Given the description of an element on the screen output the (x, y) to click on. 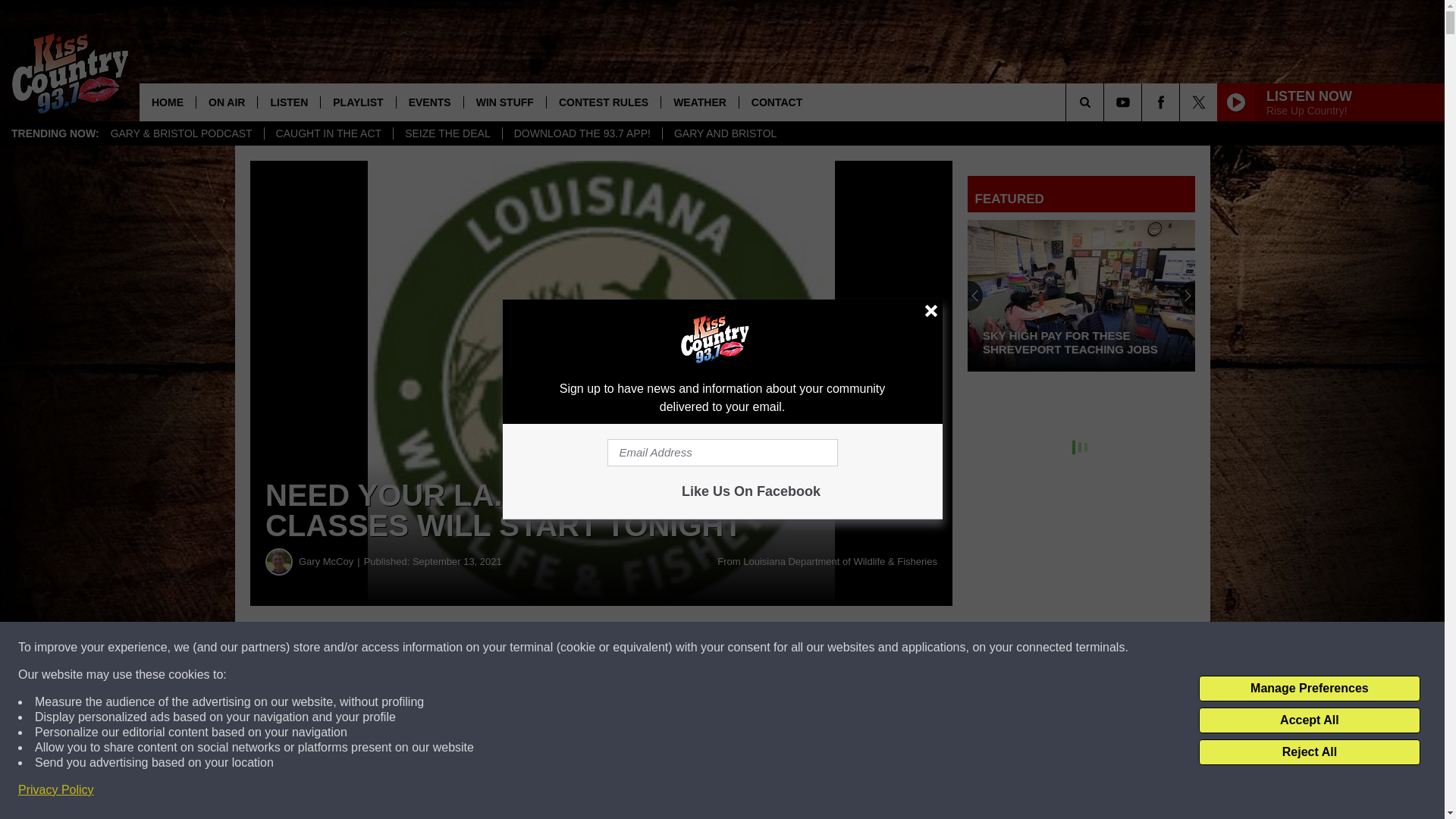
HOME (167, 102)
GARY AND BRISTOL (724, 133)
SEARCH (1106, 102)
Manage Preferences (1309, 688)
WIN STUFF (504, 102)
EVENTS (429, 102)
PLAYLIST (357, 102)
Accept All (1309, 720)
SEIZE THE DEAL (447, 133)
Privacy Policy (55, 789)
CONTEST RULES (603, 102)
Reject All (1309, 751)
Share on Twitter (741, 647)
ON AIR (226, 102)
DOWNLOAD THE 93.7 APP! (582, 133)
